Given the description of an element on the screen output the (x, y) to click on. 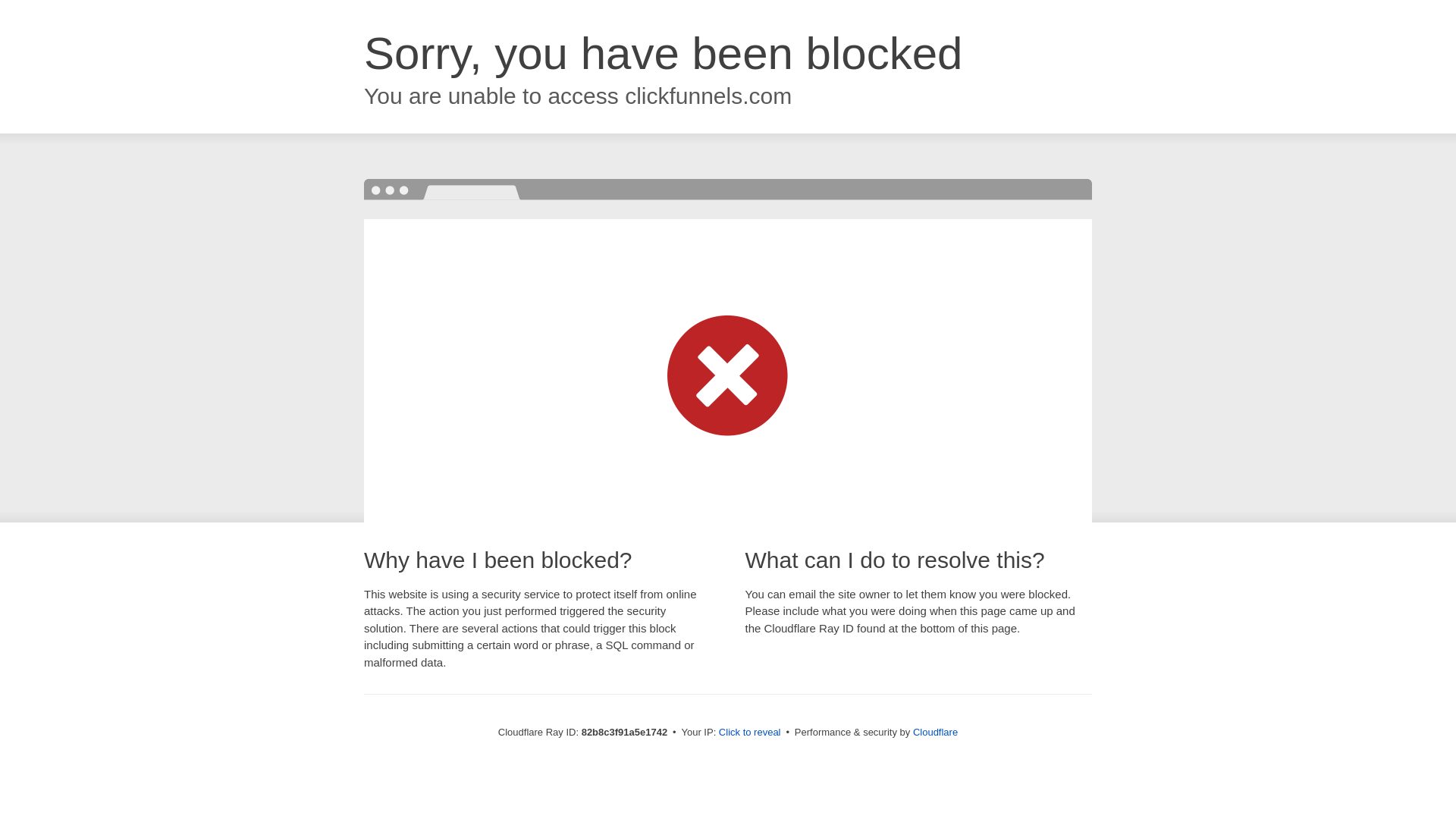
Cloudflare Element type: text (935, 731)
Click to reveal Element type: text (749, 732)
